Given the description of an element on the screen output the (x, y) to click on. 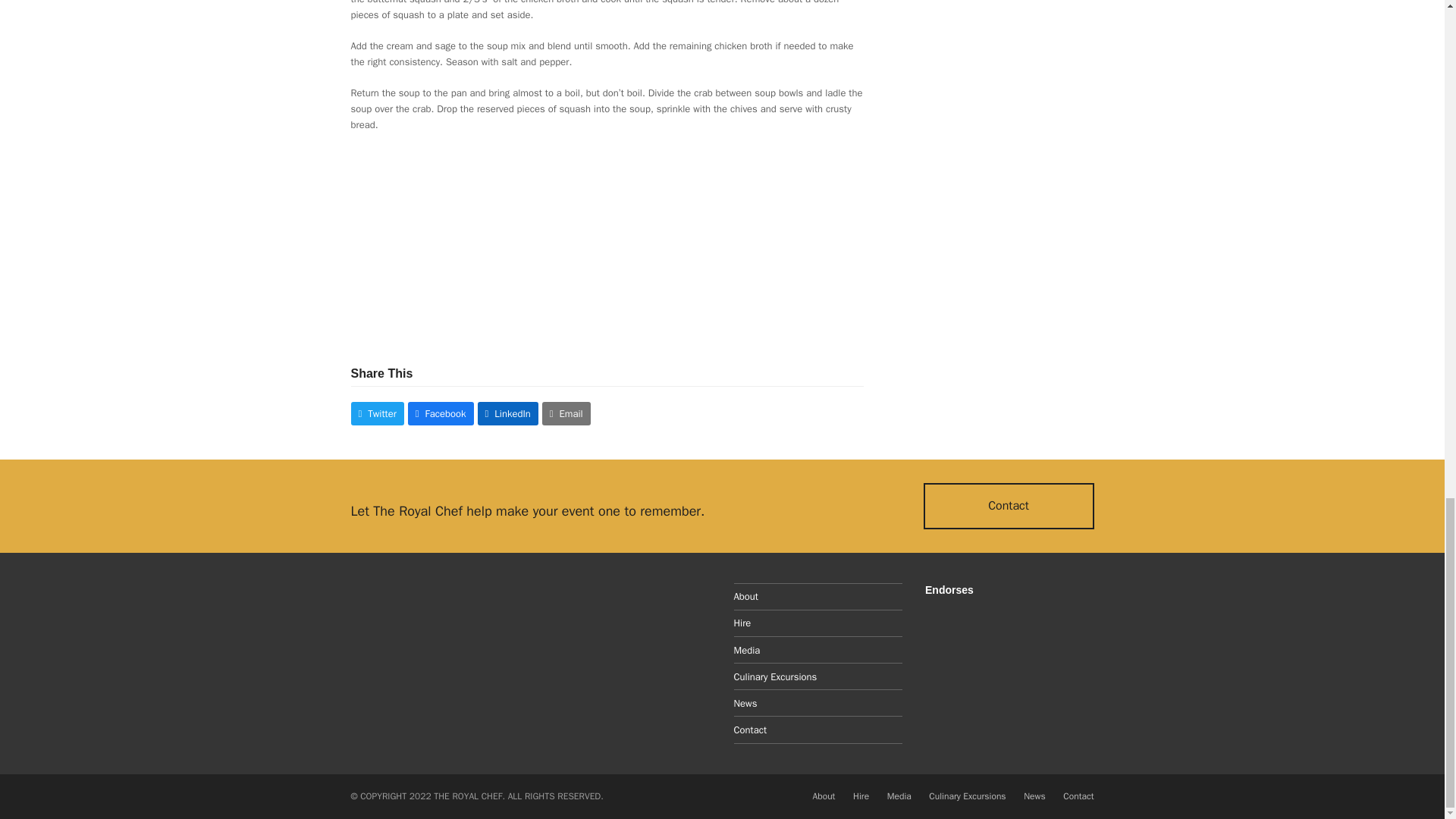
Contact (1008, 505)
LinkedIn (507, 413)
Twitter (376, 413)
Hire (861, 796)
Media (898, 796)
Facebook (440, 413)
About (823, 796)
About (745, 595)
Contact (750, 729)
Hire (742, 622)
News (1034, 796)
Email (566, 413)
Culinary Excursions (774, 676)
News (745, 703)
Media (746, 649)
